Given the description of an element on the screen output the (x, y) to click on. 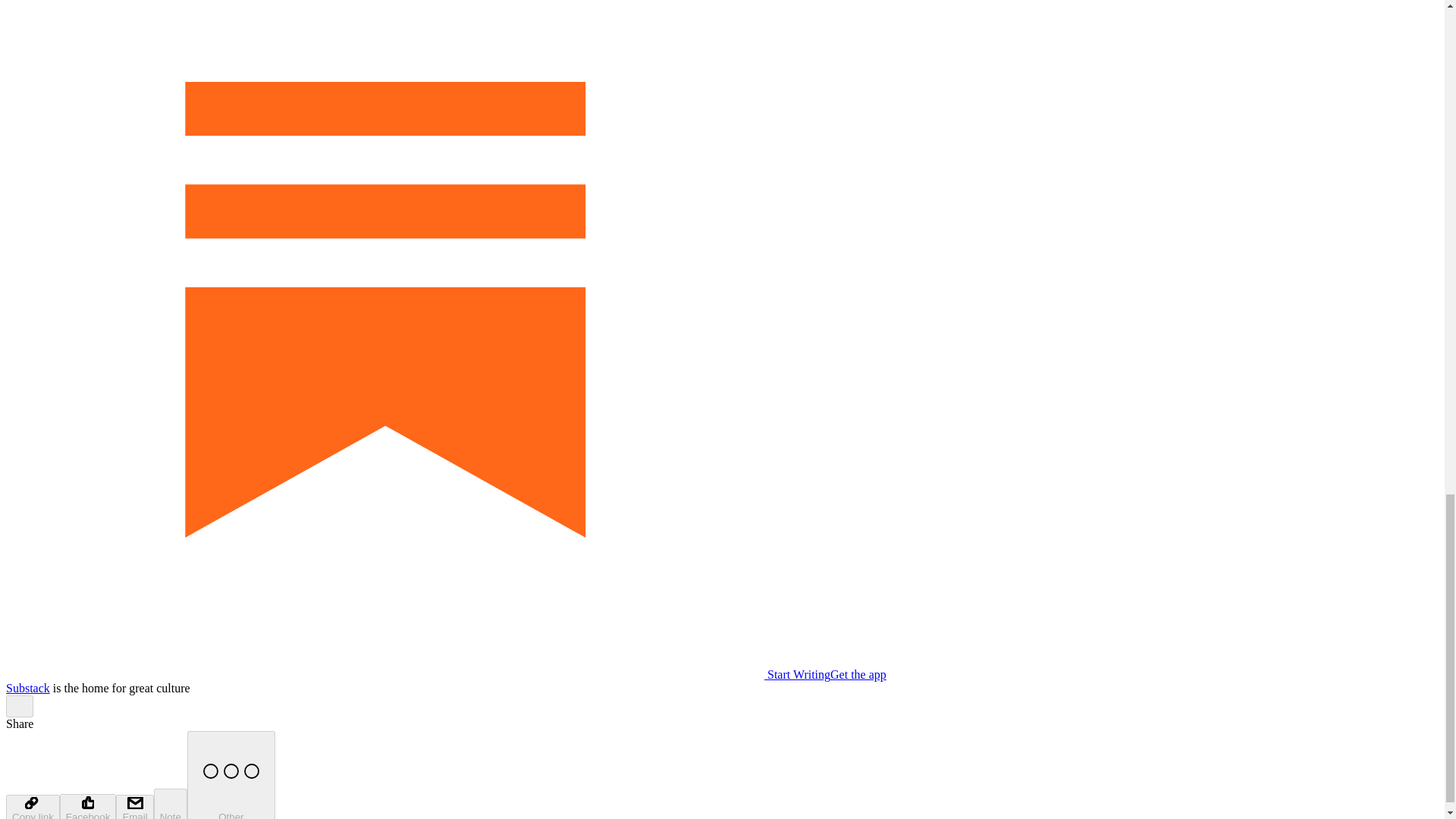
Start Writing (417, 674)
Substack (27, 687)
Get the app (857, 674)
